Given the description of an element on the screen output the (x, y) to click on. 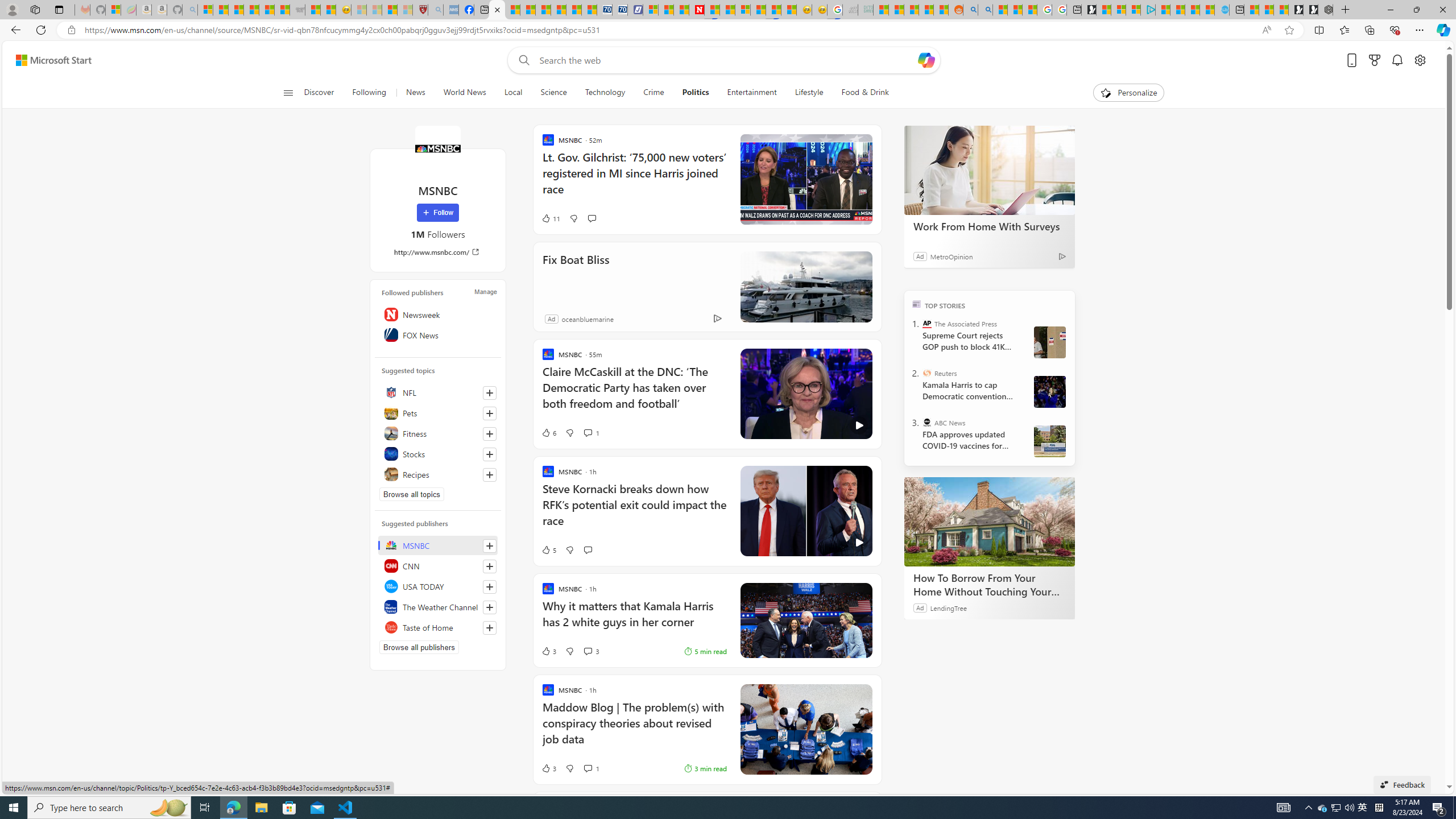
Food & Drink (865, 92)
14 Common Myths Debunked By Scientific Facts (726, 9)
Technology (604, 92)
MSNBC (437, 148)
Follow this topic (489, 474)
